Given the description of an element on the screen output the (x, y) to click on. 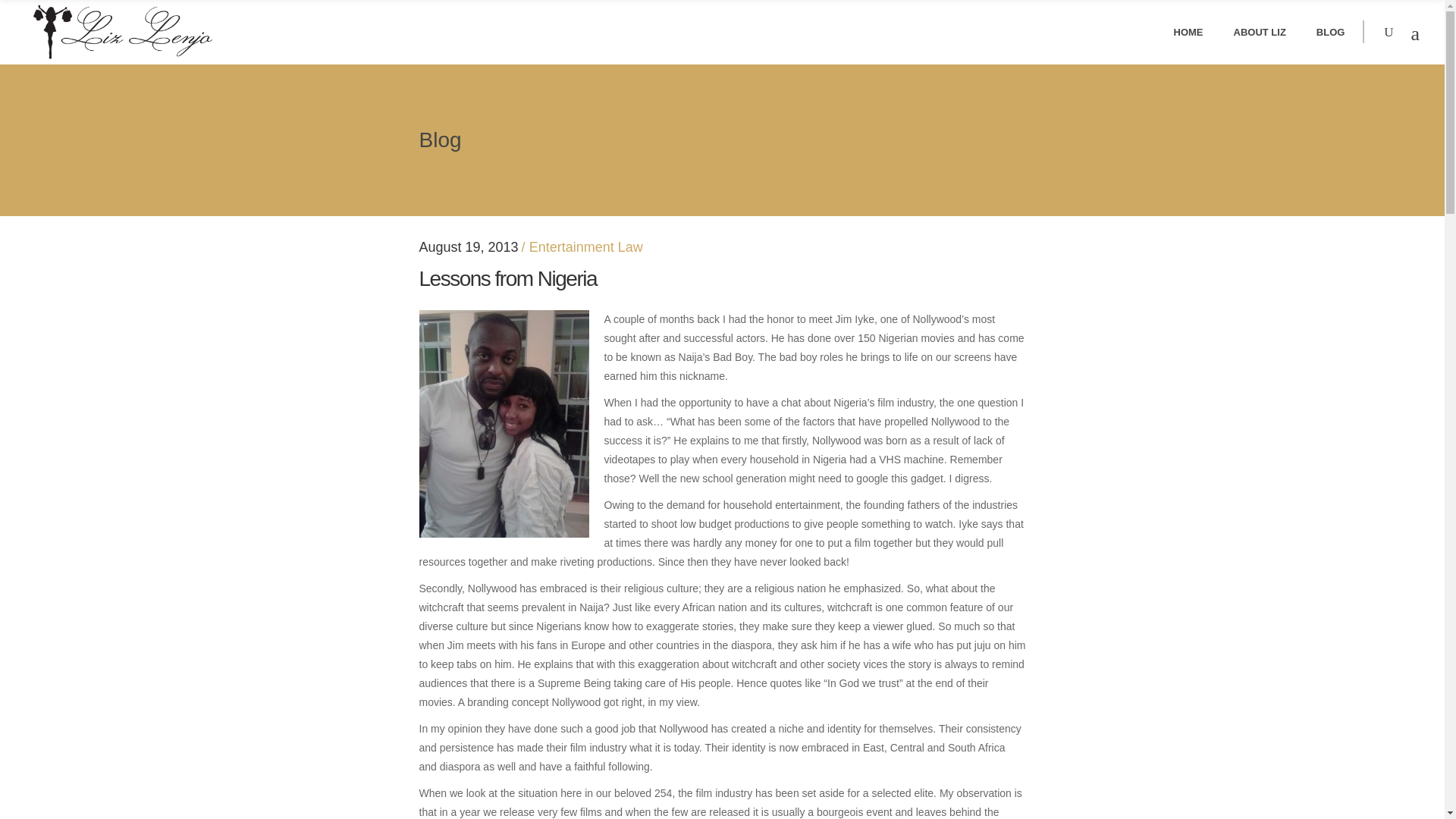
BLOG (1330, 32)
U (989, 412)
ABOUT LIZ (1258, 32)
Entertainment Law (586, 246)
HOME (1188, 32)
